Given the description of an element on the screen output the (x, y) to click on. 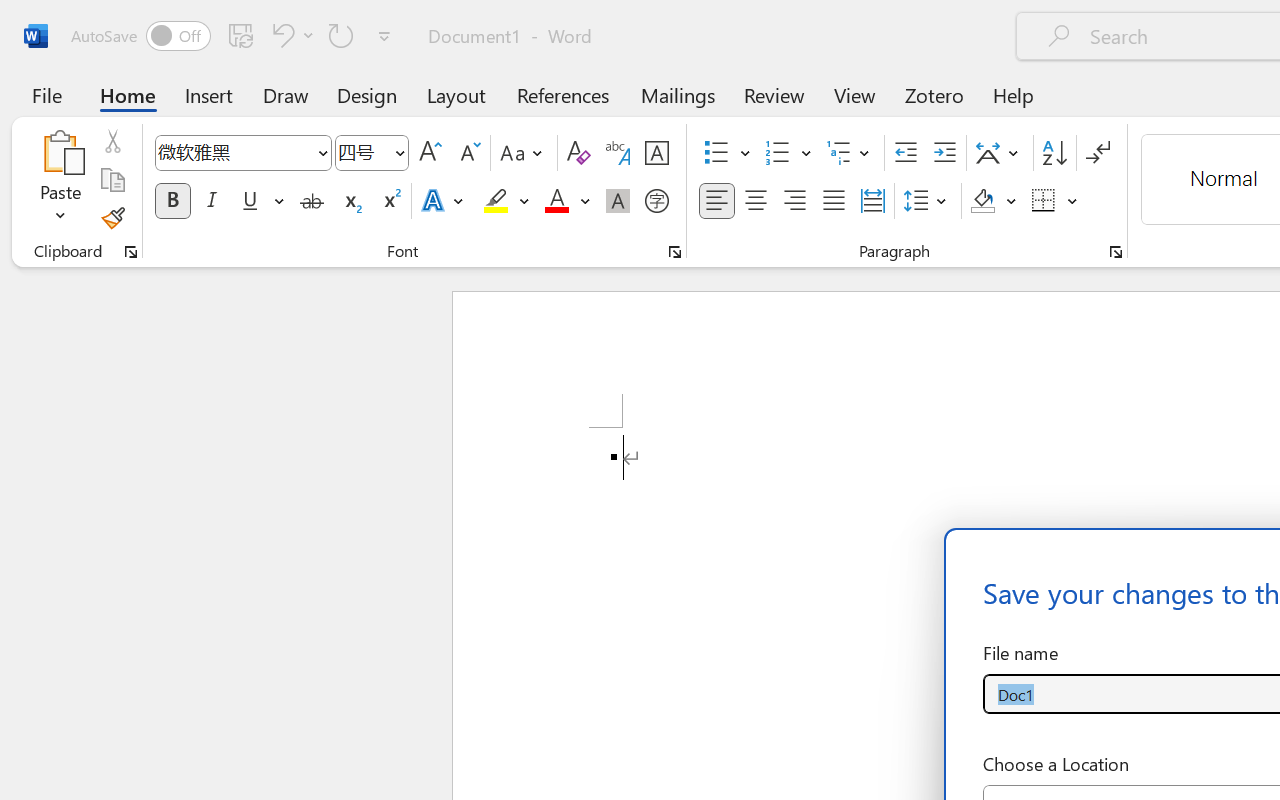
Font Color Red (556, 201)
Undo <ApplyStyleToDoc>b__0 (290, 35)
Undo <ApplyStyleToDoc>b__0 (280, 35)
